Given the description of an element on the screen output the (x, y) to click on. 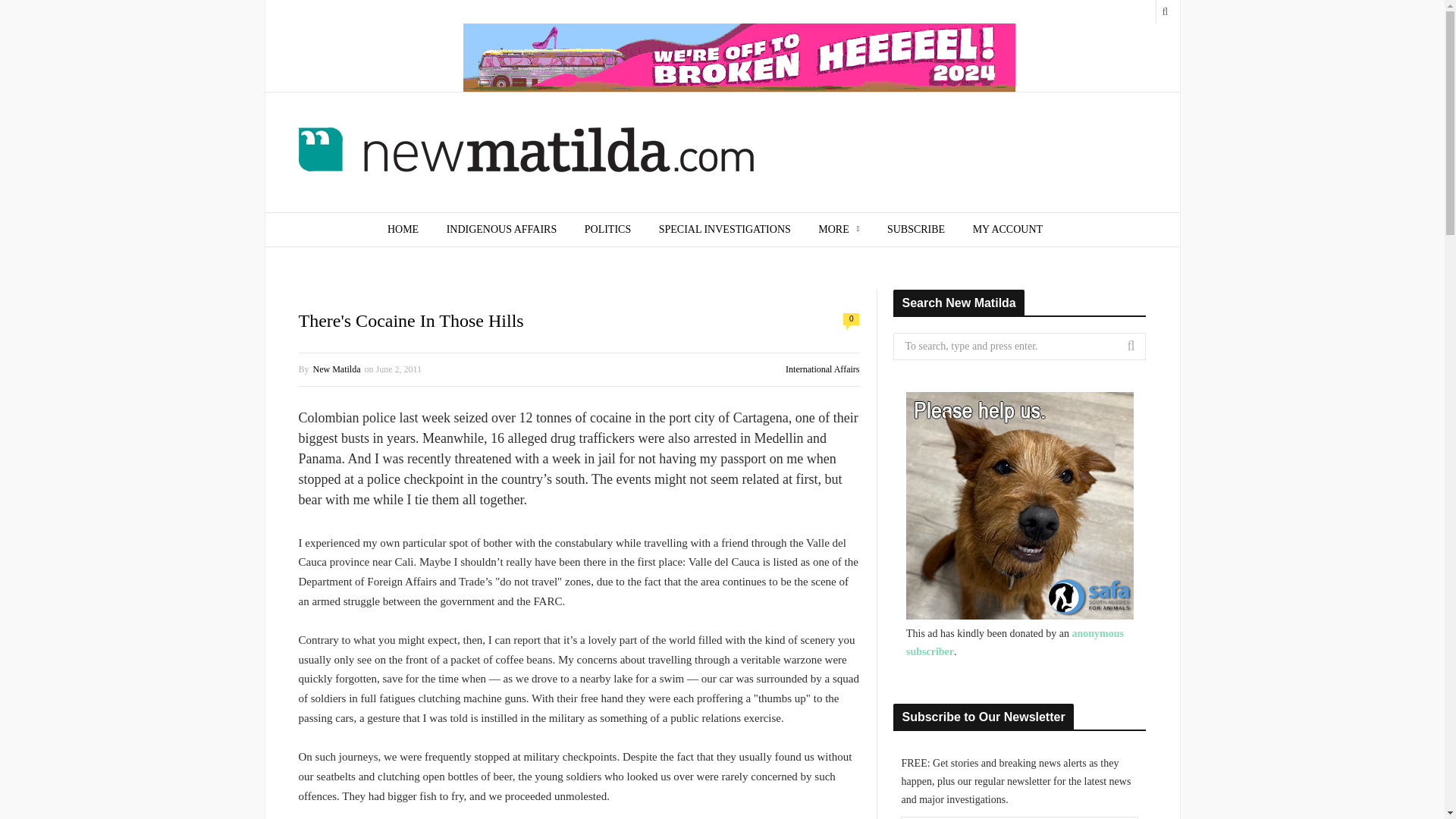
Posts by New Matilda (337, 368)
MY ACCOUNT (1008, 229)
POLITICS (607, 229)
New Matilda (526, 152)
SPECIAL INVESTIGATIONS (725, 229)
INDIGENOUS AFFAIRS (501, 229)
MORE (838, 229)
International Affairs (822, 368)
New Matilda (337, 368)
SUBSCRIBE (915, 229)
